Given the description of an element on the screen output the (x, y) to click on. 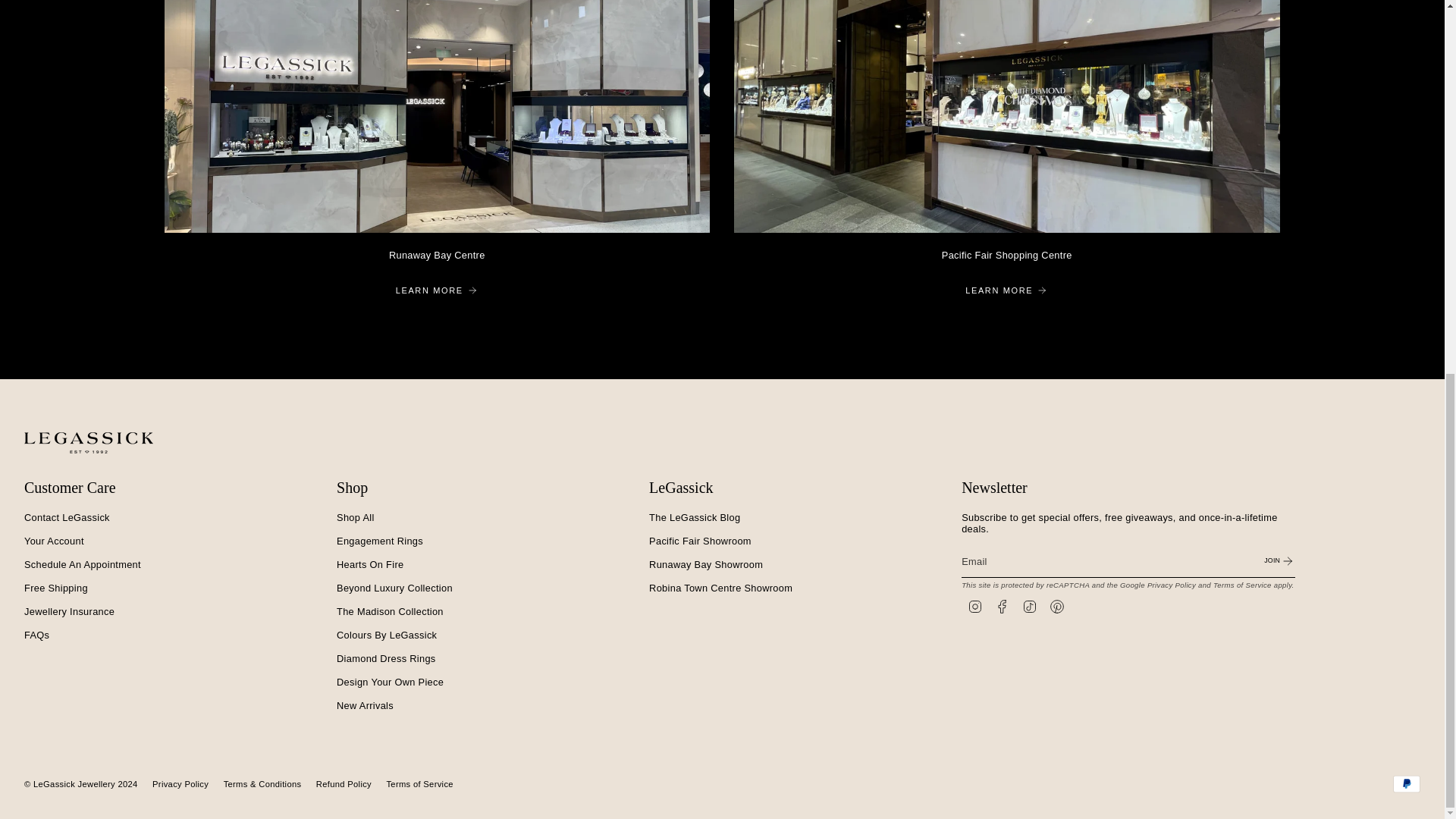
LeGassick Jewellery on Instagram (975, 605)
LeGassick Jewellery on Facebook (1002, 605)
